Given the description of an element on the screen output the (x, y) to click on. 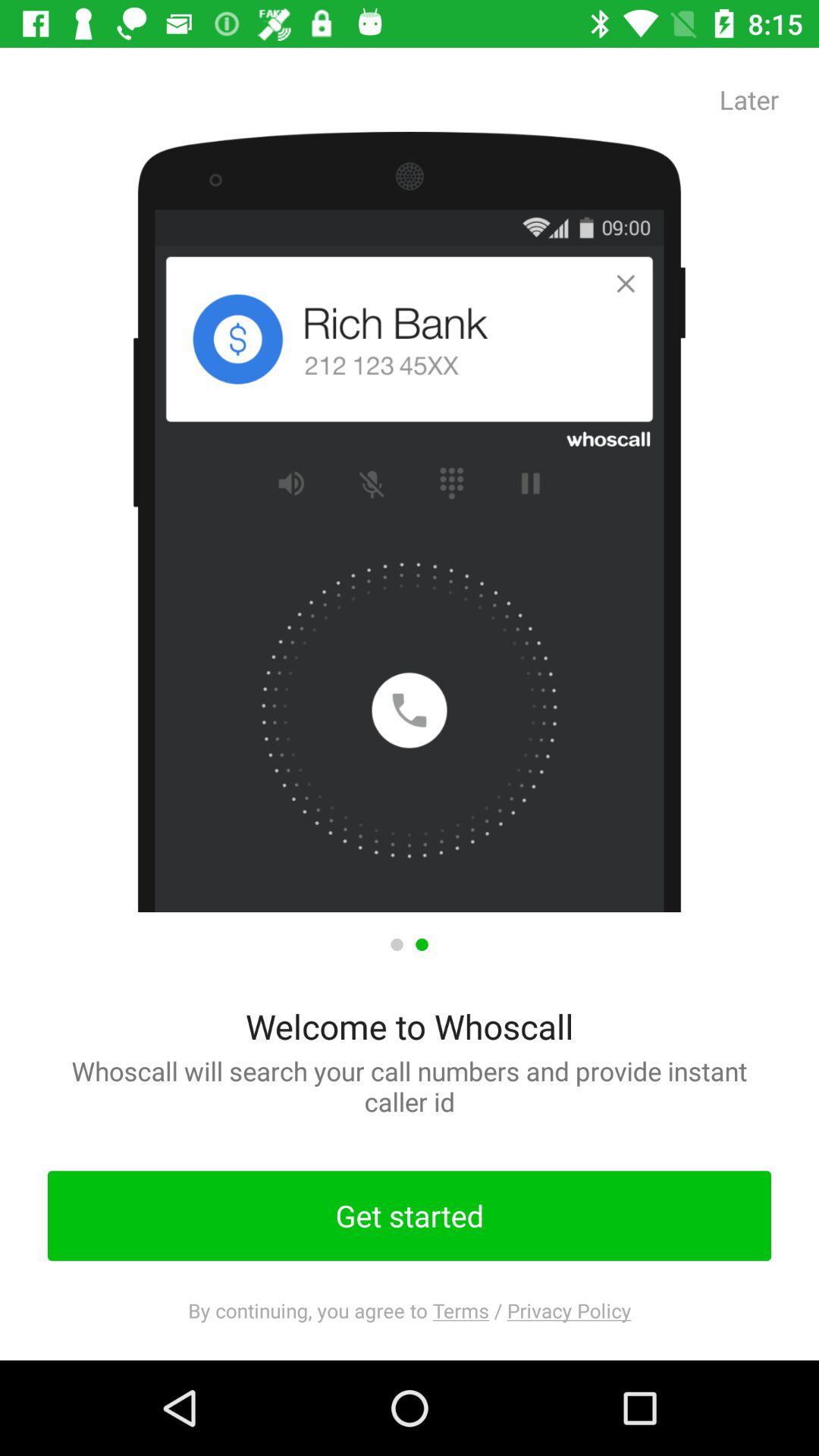
select the by continuing you app (409, 1310)
